Given the description of an element on the screen output the (x, y) to click on. 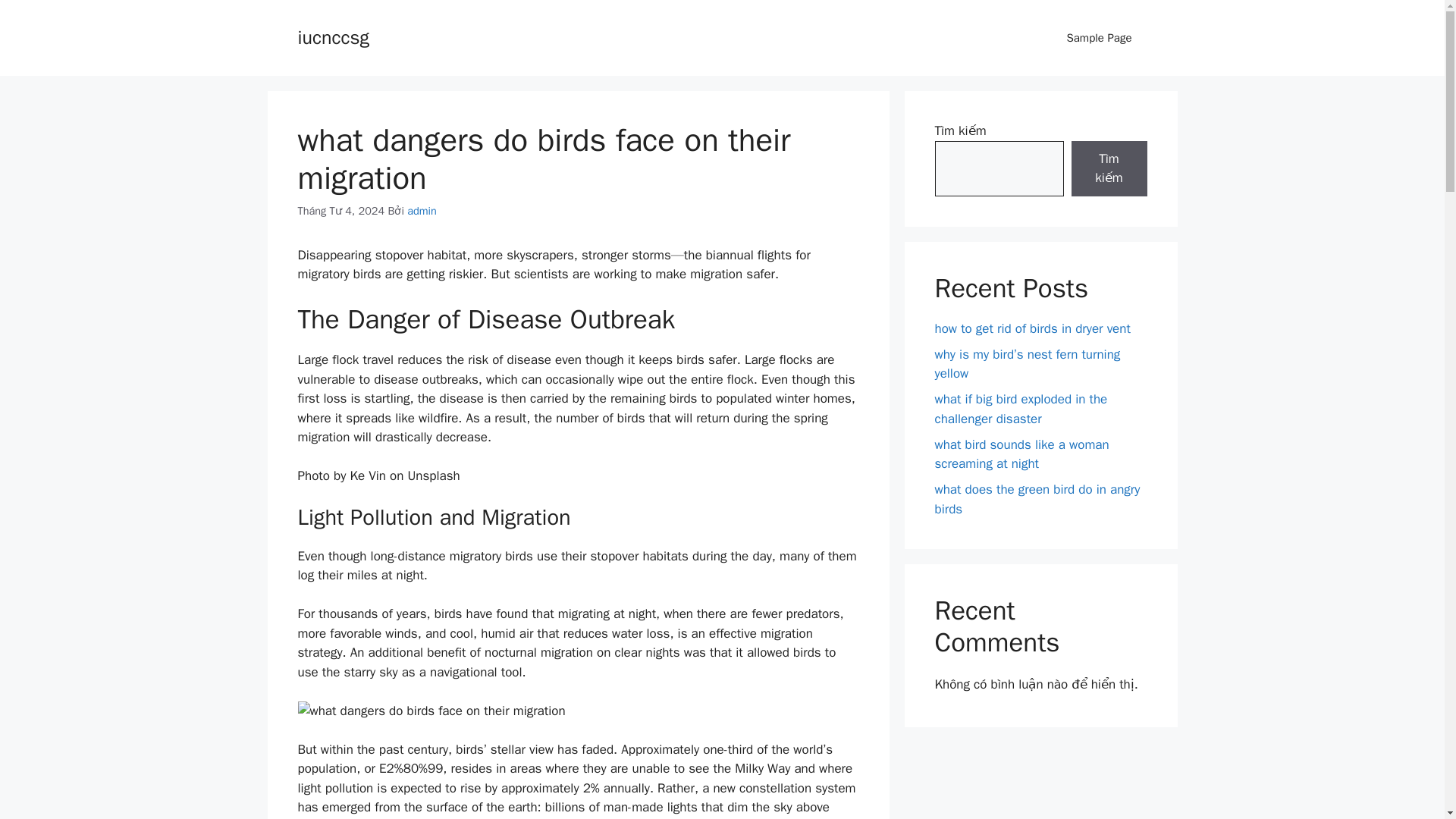
how to get rid of birds in dryer vent (1031, 327)
what does the green bird do in angry birds (1037, 498)
admin (421, 210)
what if big bird exploded in the challenger disaster (1020, 408)
Sample Page (1099, 37)
iucnccsg (332, 37)
what bird sounds like a woman screaming at night (1021, 454)
